Given the description of an element on the screen output the (x, y) to click on. 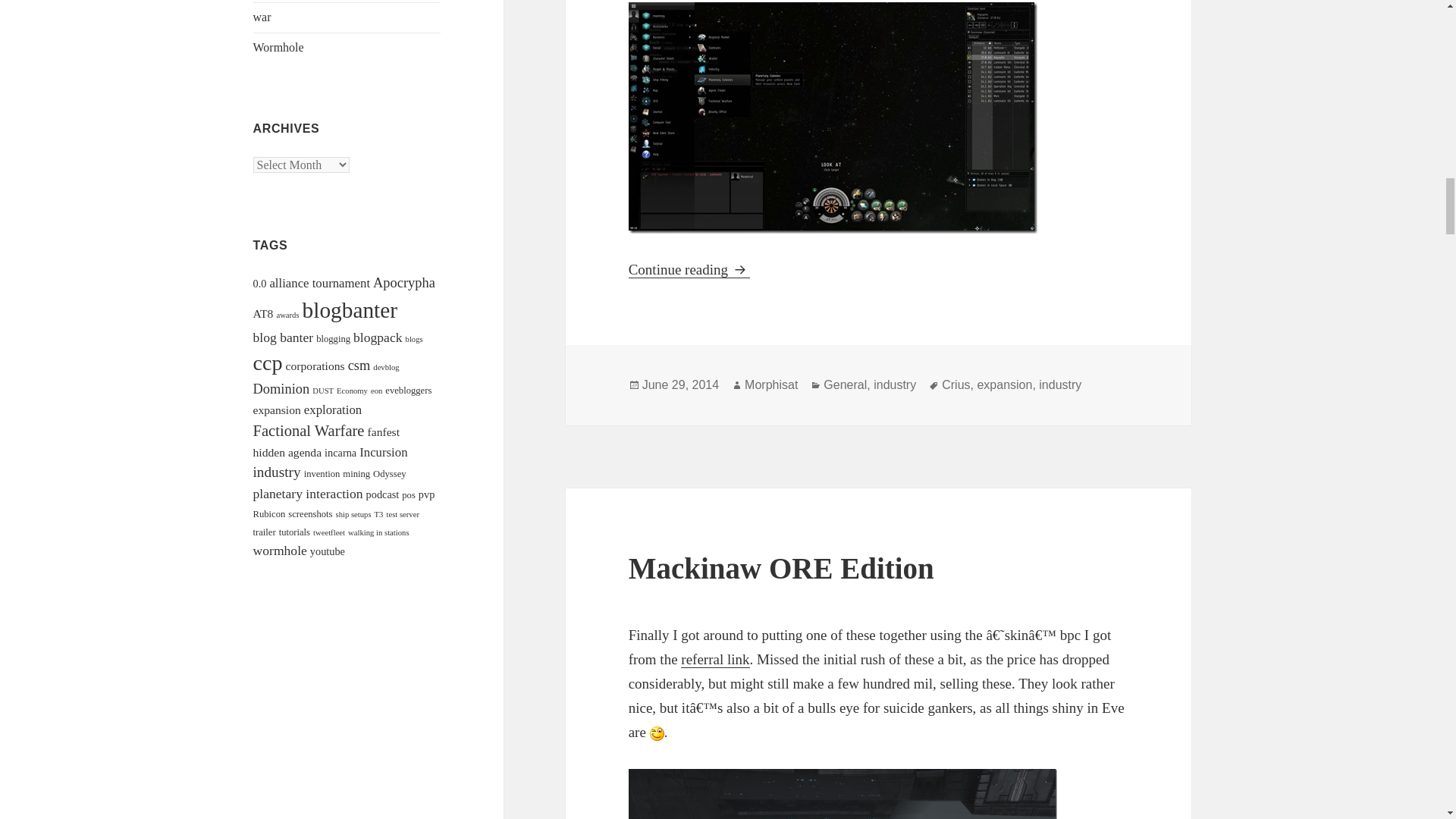
Mackinaw ORE Development Edition (842, 794)
NewMenu (832, 117)
